Given the description of an element on the screen output the (x, y) to click on. 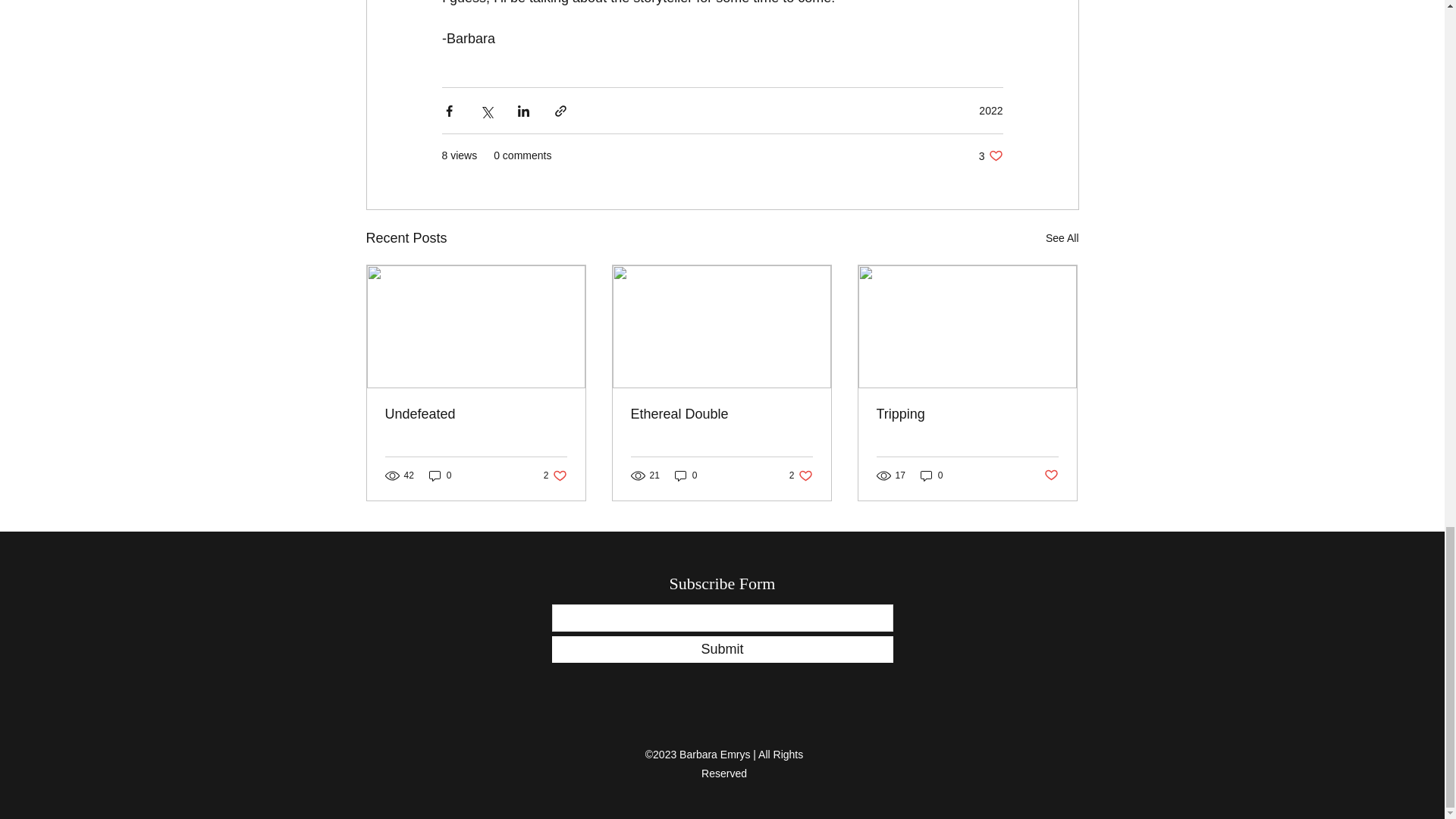
Submit (722, 649)
0 (440, 475)
Undefeated (990, 155)
Ethereal Double (476, 414)
Tripping (721, 414)
0 (800, 475)
Post not marked as liked (967, 414)
0 (685, 475)
2022 (1050, 475)
See All (931, 475)
